Given the description of an element on the screen output the (x, y) to click on. 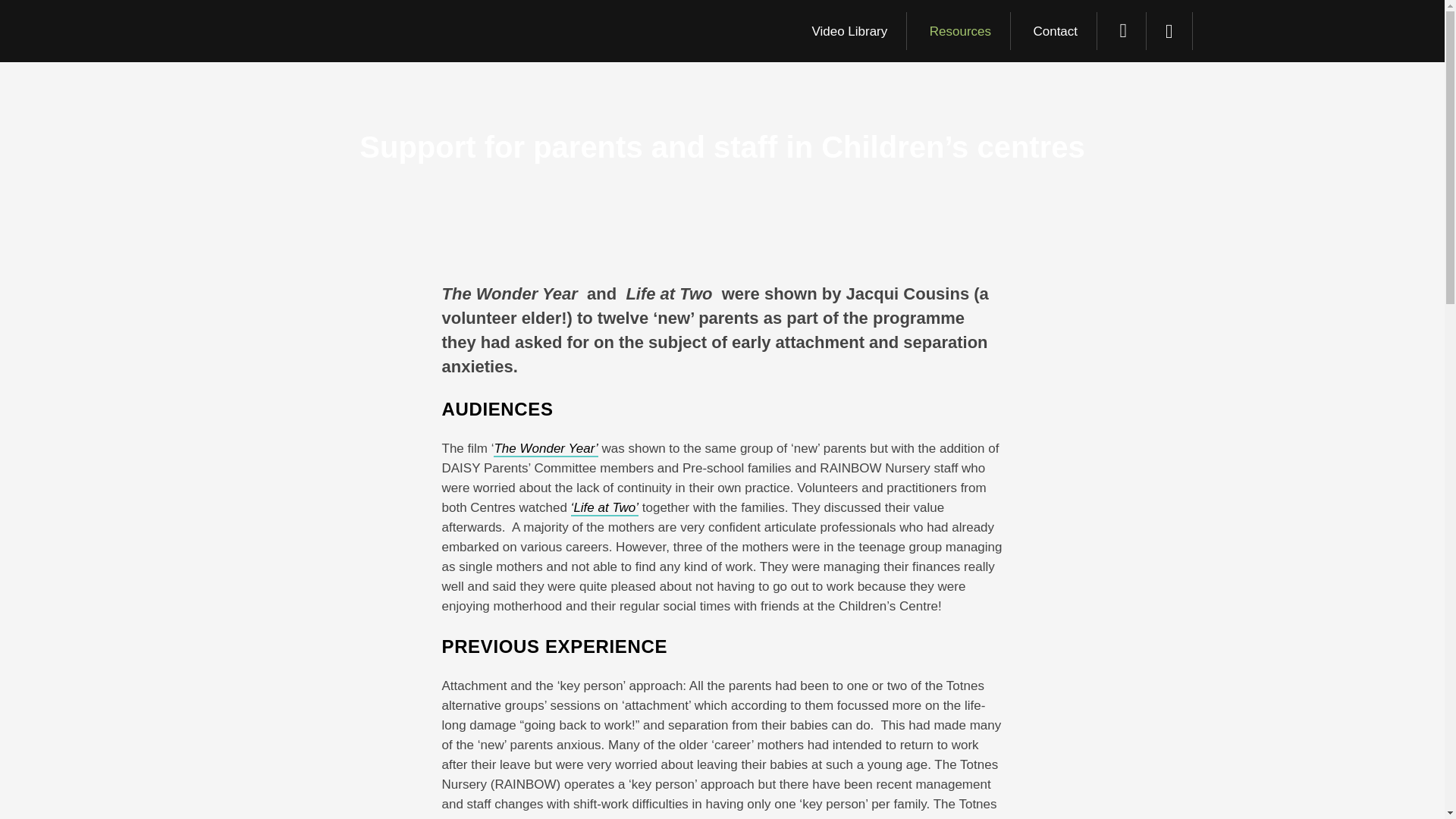
Contact (1055, 30)
Video Library (849, 30)
Resources (960, 30)
